Given the description of an element on the screen output the (x, y) to click on. 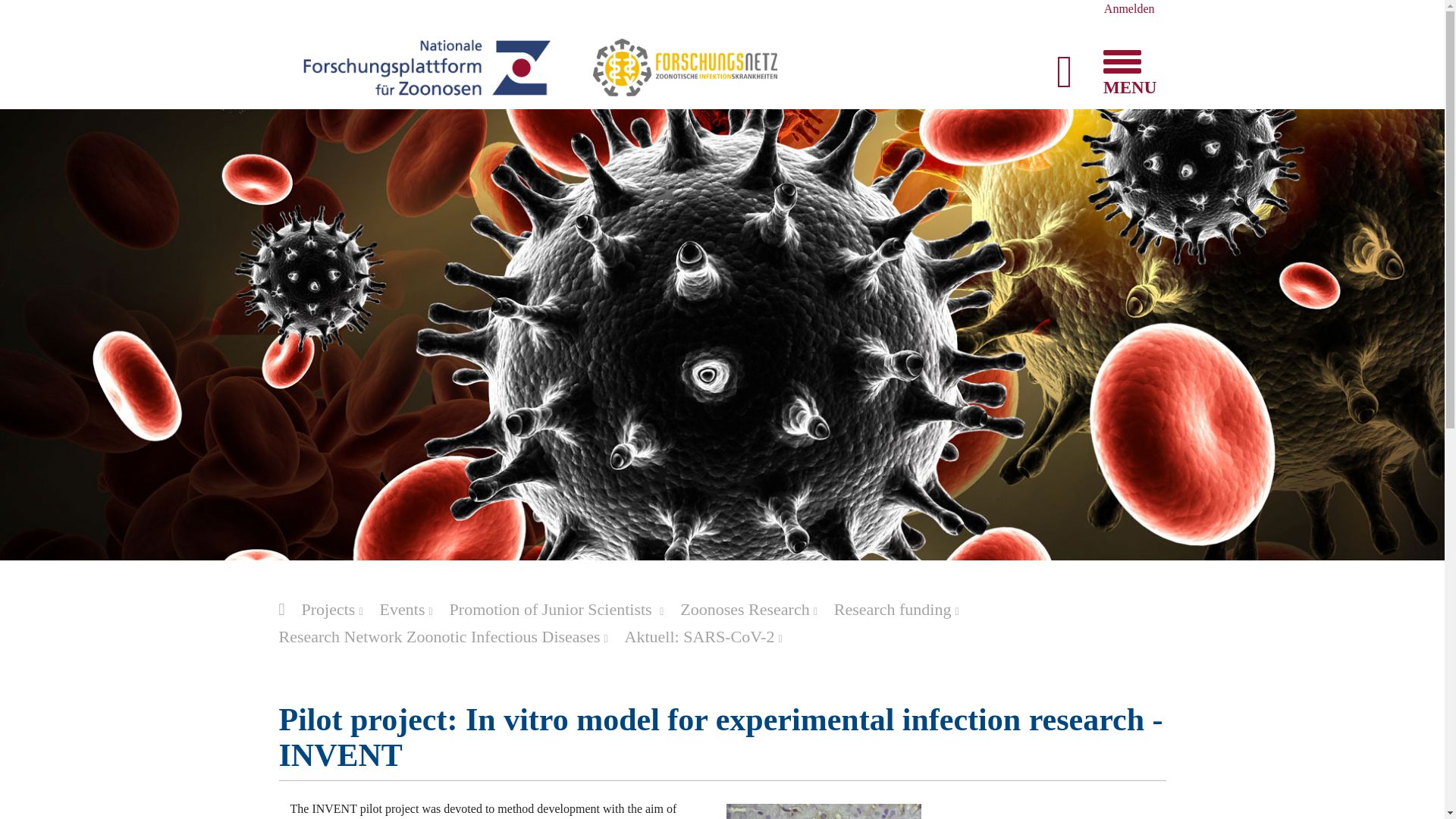
About us (288, 614)
Home (425, 65)
projects (339, 609)
Menu (1120, 61)
